Given the description of an element on the screen output the (x, y) to click on. 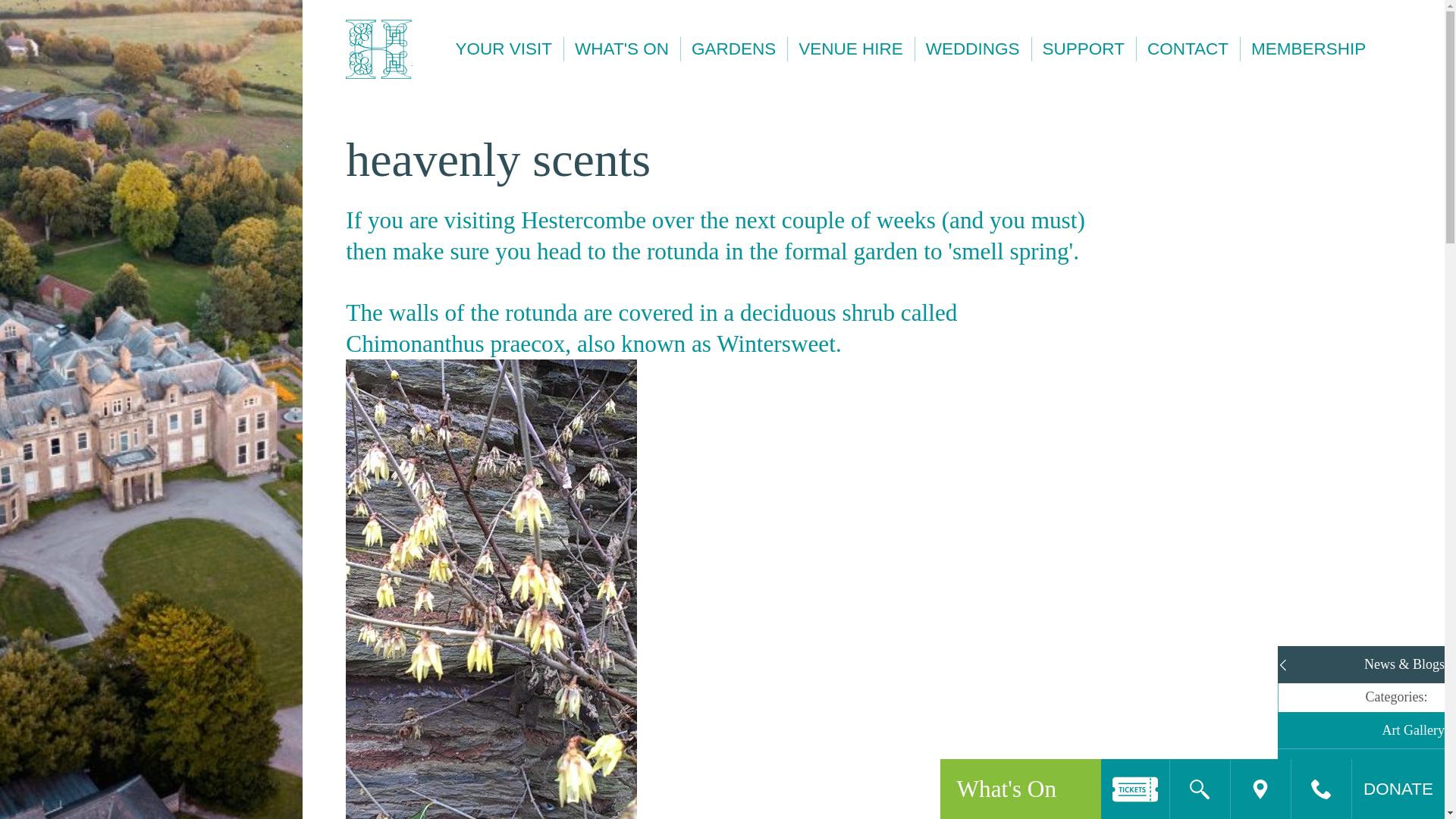
YOUR VISIT (504, 48)
CONTACT (1187, 48)
SUPPORT (1082, 48)
GARDENS (733, 48)
WHAT'S ON (621, 48)
VENUE HIRE (850, 48)
WEDDINGS (972, 48)
